Given the description of an element on the screen output the (x, y) to click on. 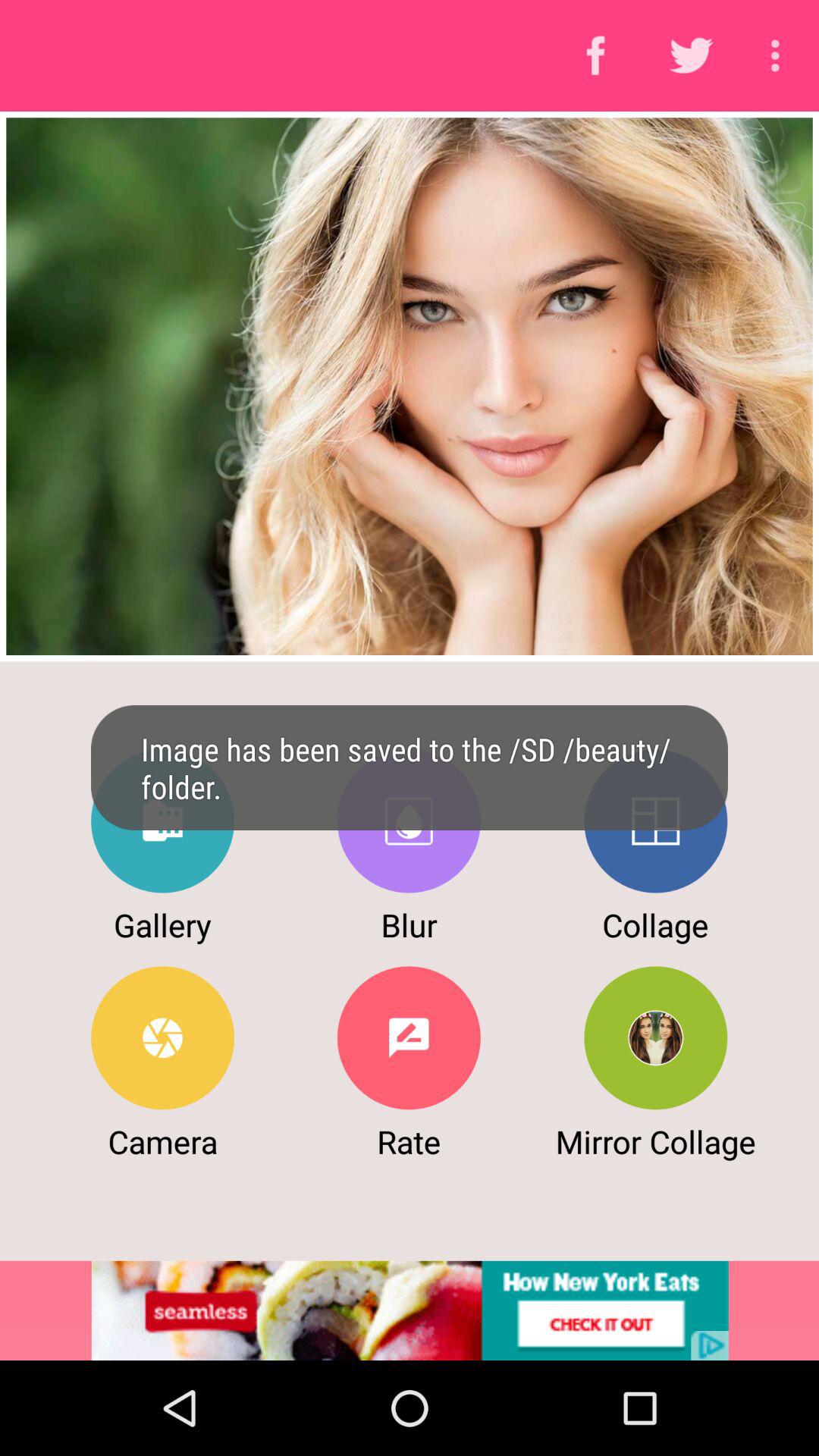
go to rate (408, 1037)
